Given the description of an element on the screen output the (x, y) to click on. 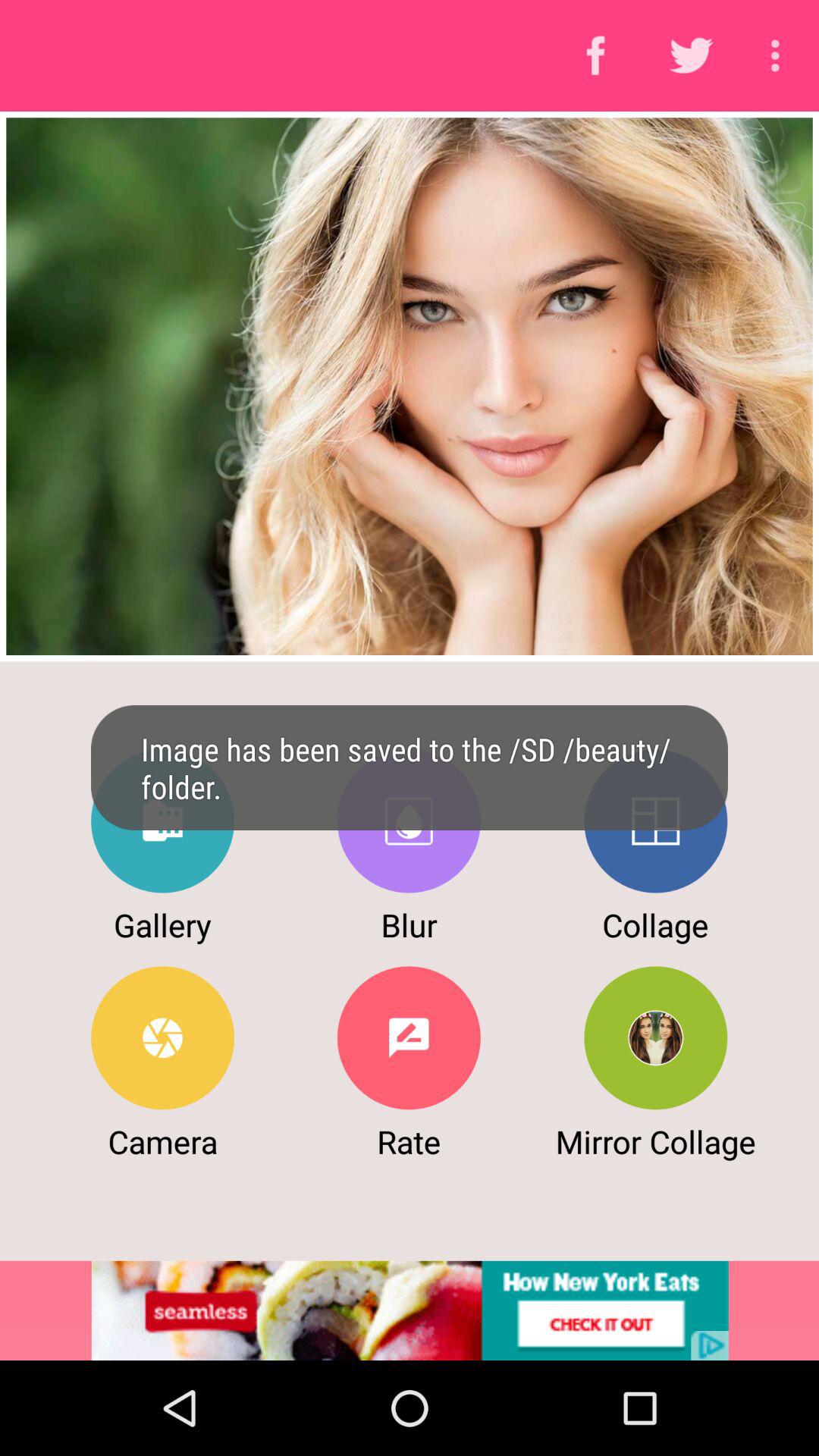
go to rate (408, 1037)
